Given the description of an element on the screen output the (x, y) to click on. 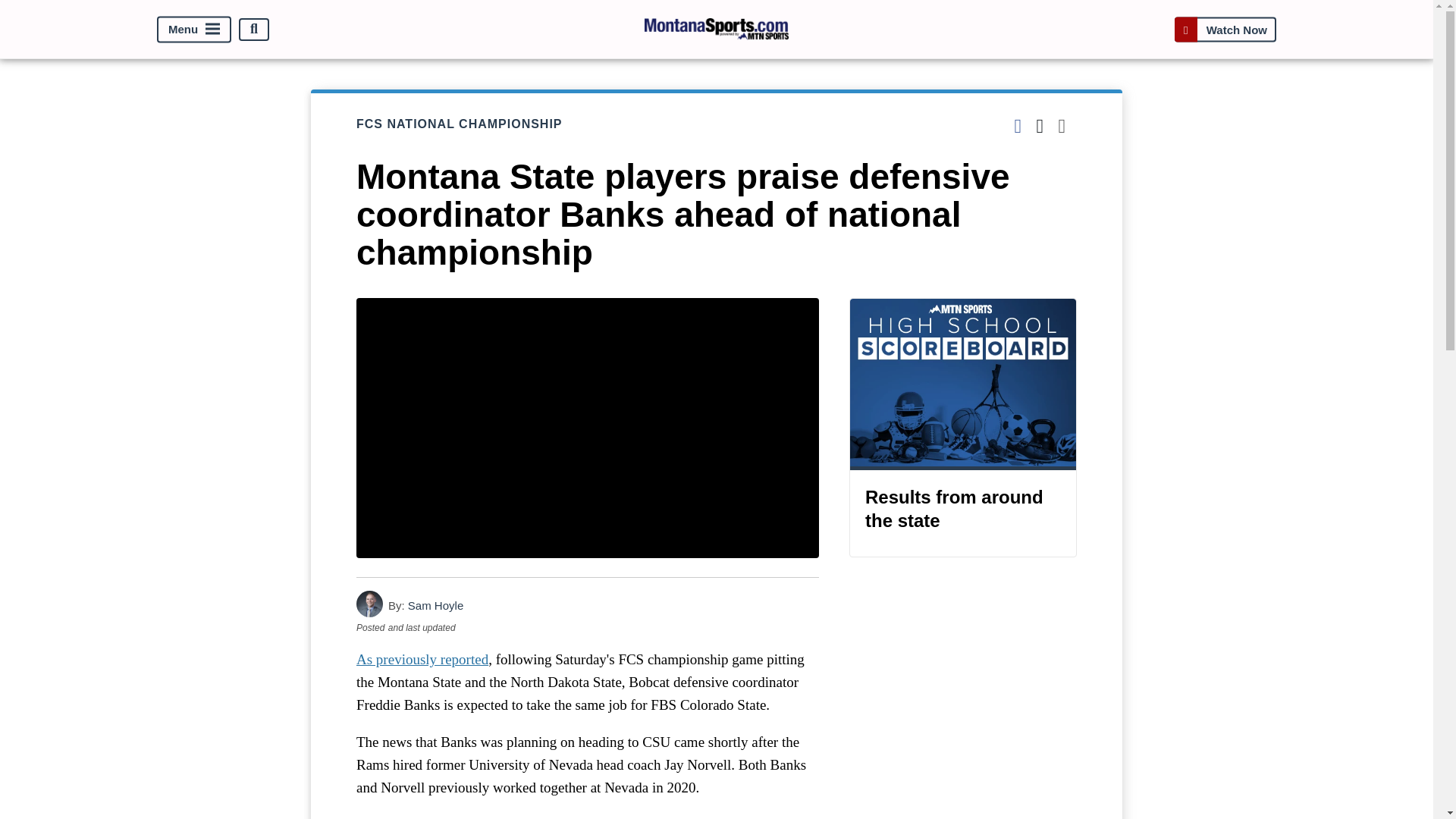
Watch Now (1224, 29)
Menu (194, 28)
